Given the description of an element on the screen output the (x, y) to click on. 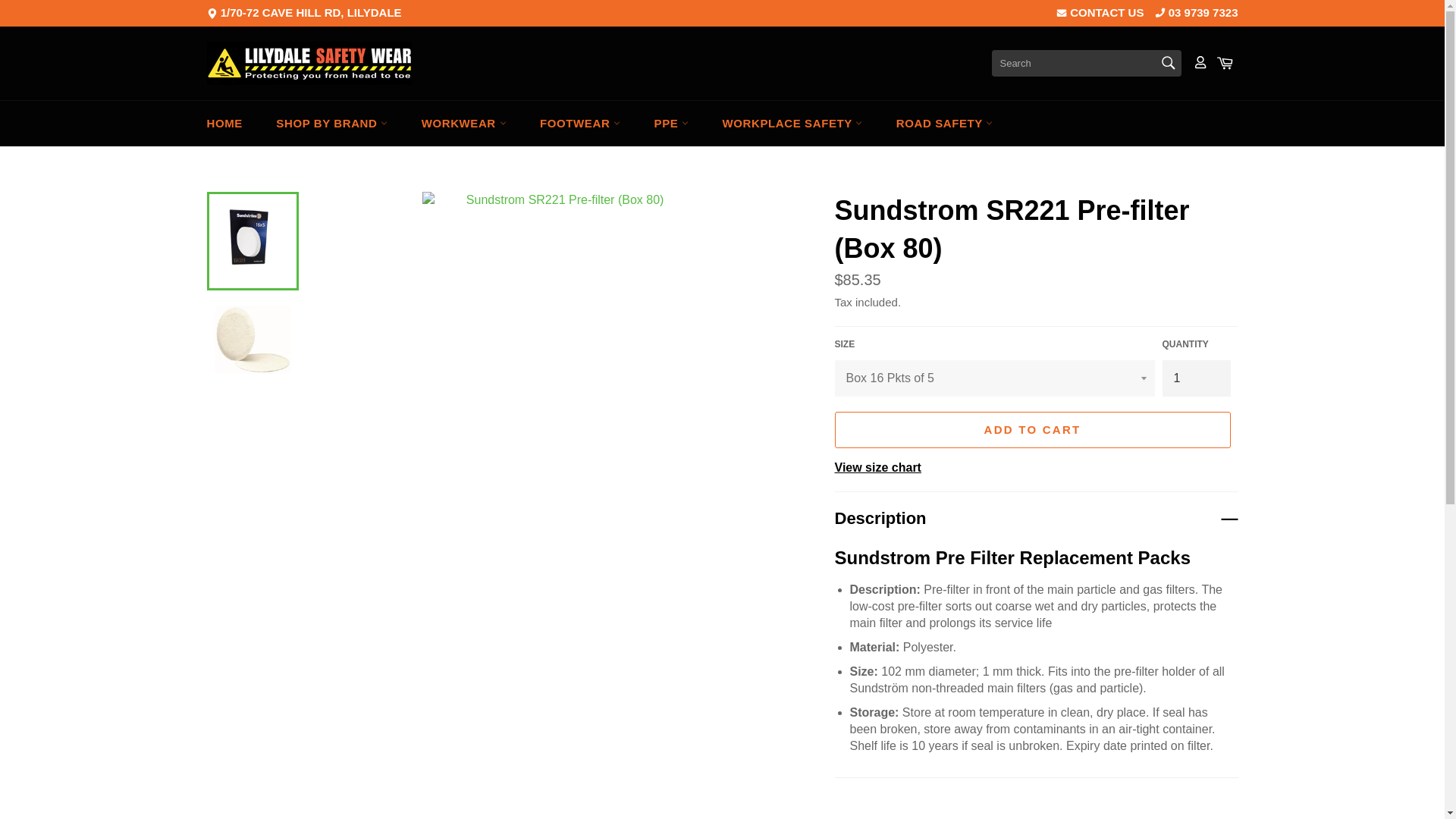
1 (1195, 378)
